Given the description of an element on the screen output the (x, y) to click on. 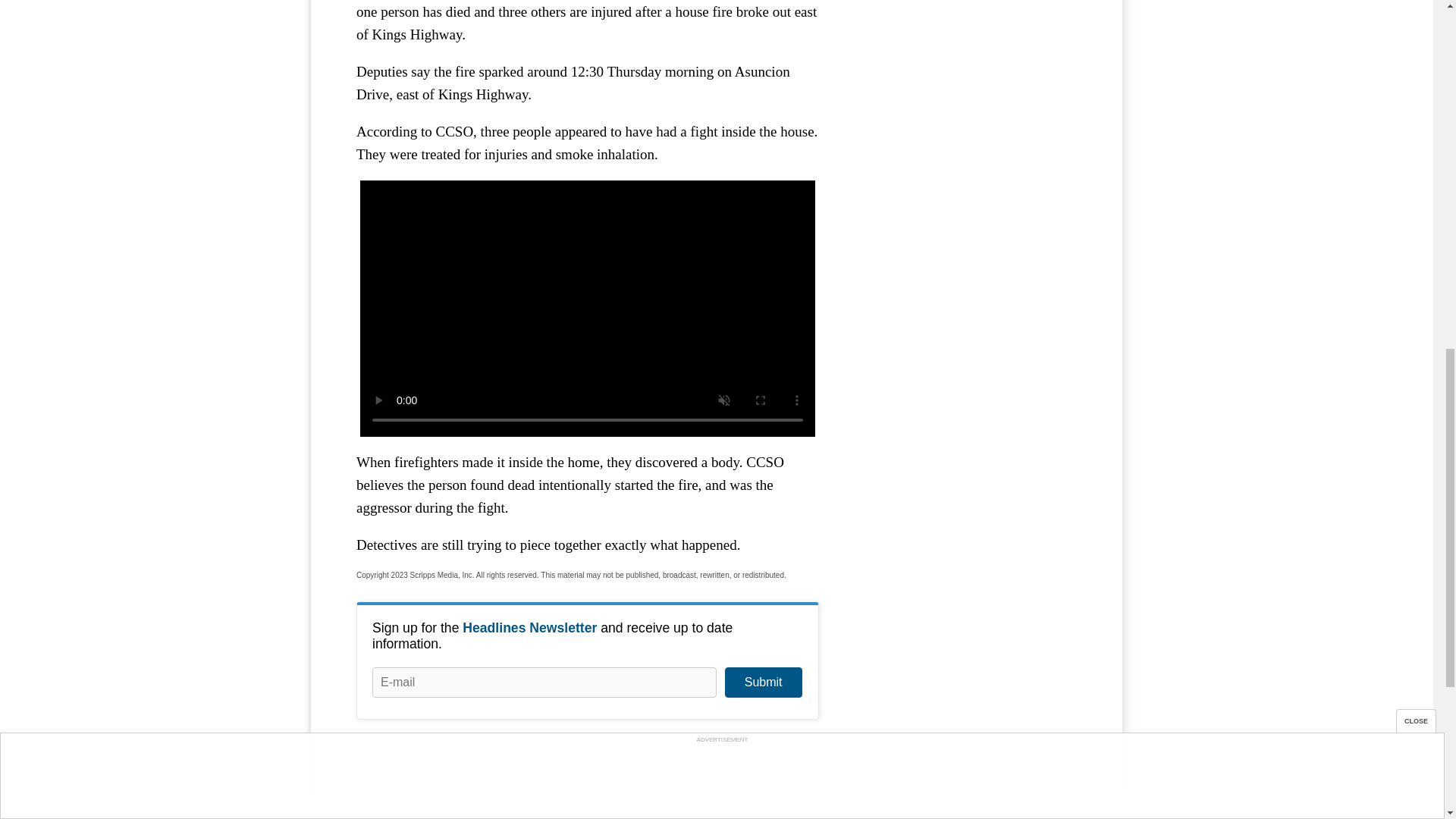
3rd party ad content (962, 64)
Submit (763, 682)
